Given the description of an element on the screen output the (x, y) to click on. 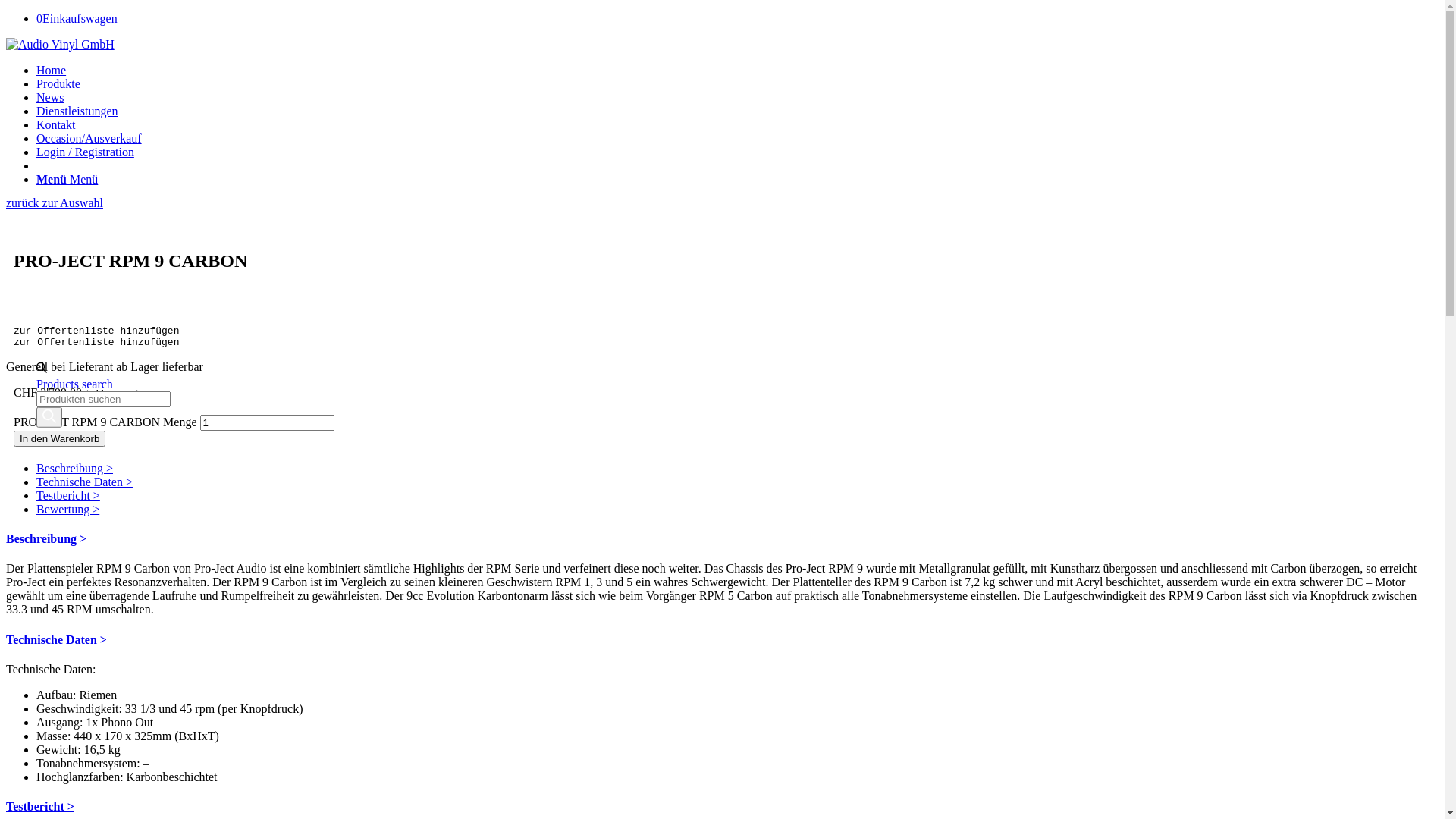
Bewertung > Element type: text (67, 508)
Occasion/Ausverkauf Element type: text (88, 137)
News Element type: text (49, 97)
In den Warenkorb Element type: text (59, 438)
Beschreibung > Element type: text (74, 467)
Menge Element type: hover (267, 422)
Technische Daten > Element type: text (84, 481)
Dienstleistungen Element type: text (77, 110)
Kontakt Element type: text (55, 124)
Home Element type: text (50, 69)
Testbericht > Element type: text (40, 806)
Testbericht > Element type: text (68, 495)
Technische Daten > Element type: text (56, 639)
Beschreibung > Element type: text (46, 538)
0Einkaufswagen Element type: text (76, 18)
Produkte Element type: text (58, 83)
Login / Registration Element type: text (85, 151)
